Given the description of an element on the screen output the (x, y) to click on. 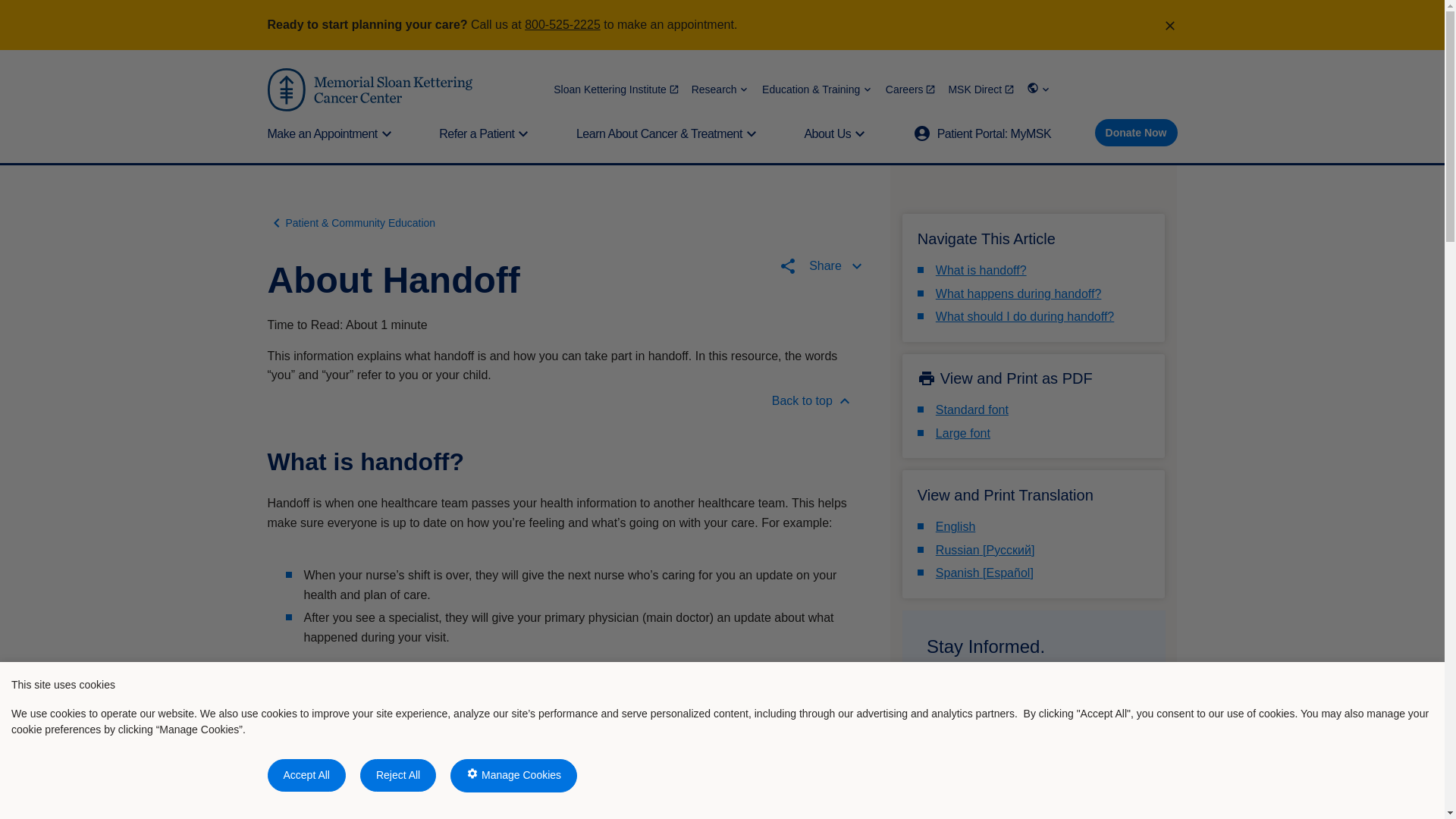
Sloan Kettering Institute (615, 89)
Reject All (397, 775)
Manage Cookies (512, 775)
Accept All (305, 775)
800-525-2225 (561, 24)
Newsletter Sign Up (993, 787)
Research (720, 89)
Donate Now (1135, 132)
